Given the description of an element on the screen output the (x, y) to click on. 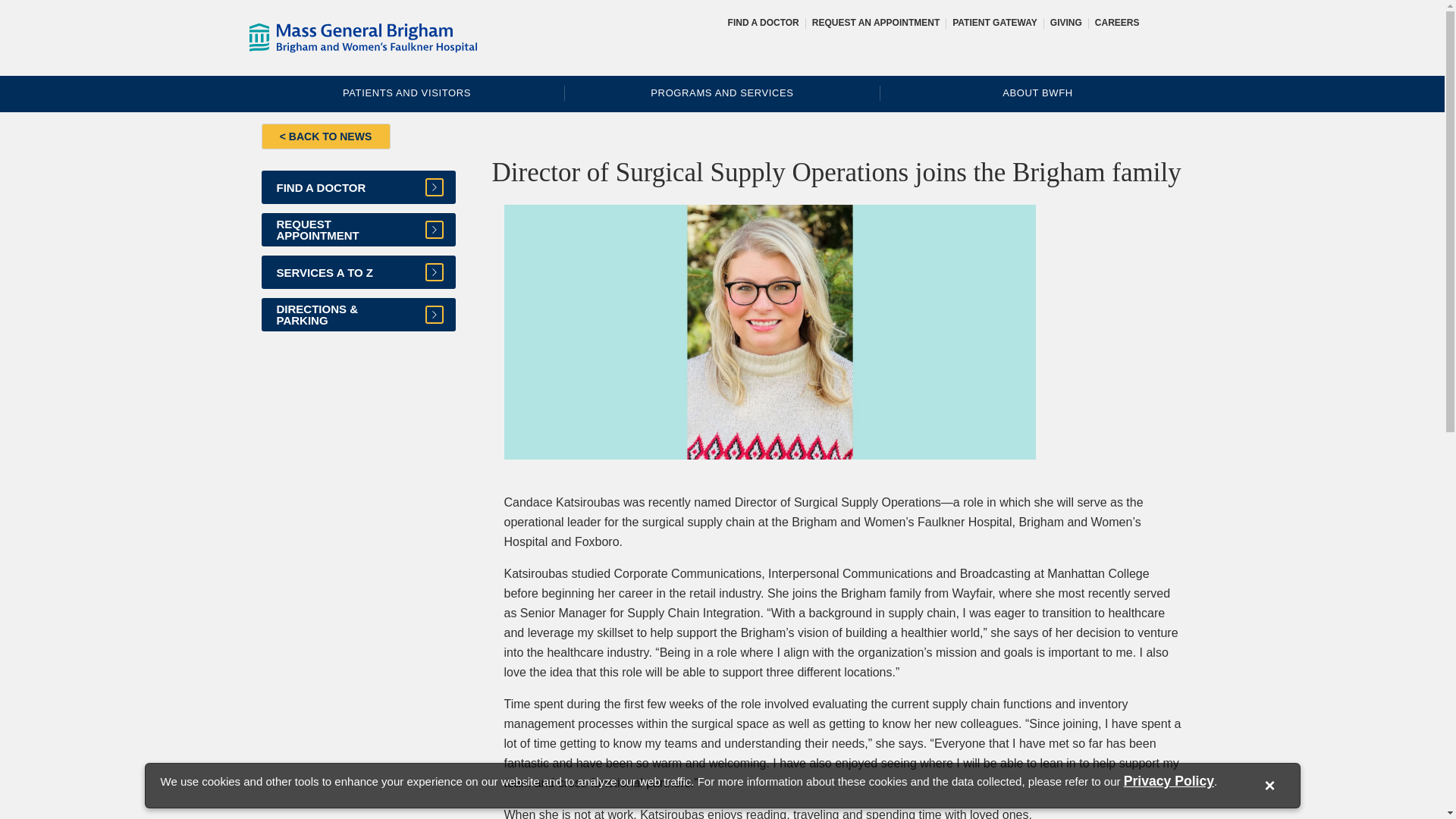
Giving (1065, 22)
Information for Patients and Families (406, 93)
GIVING (1065, 22)
FIND A DOCTOR (357, 186)
Request An Appointment (875, 22)
Information about Brigham and Women's Faulkner Hospital (1037, 93)
PATIENTS AND VISITORS (406, 93)
Back to News (325, 136)
Find A Doctor (357, 186)
Request an Appointment (357, 229)
